Given the description of an element on the screen output the (x, y) to click on. 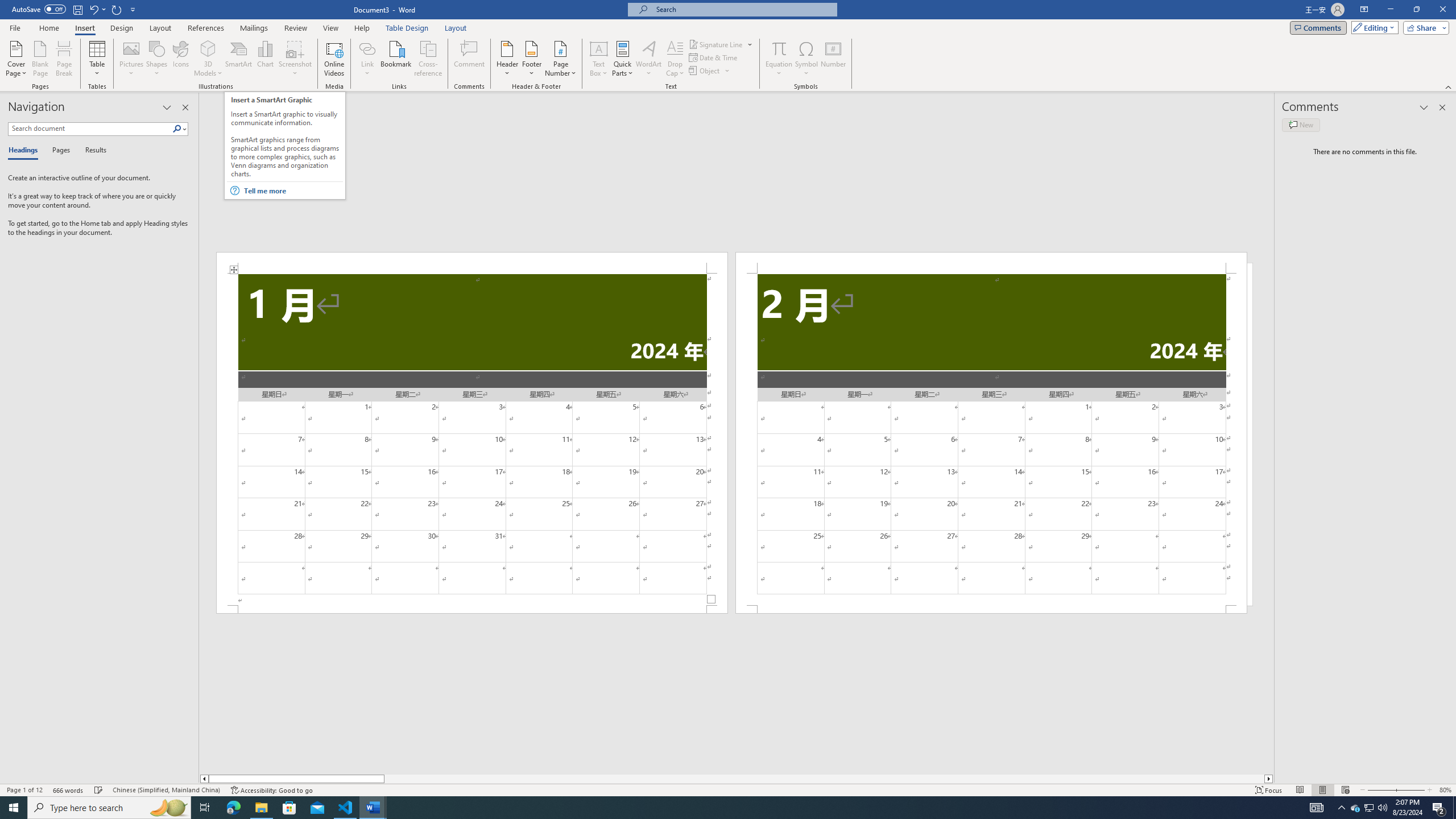
Equation (778, 48)
Pictures (131, 58)
Tell me more (293, 190)
Page Number Page 1 of 12 (24, 790)
New comment (1300, 124)
Column left (203, 778)
